Given the description of an element on the screen output the (x, y) to click on. 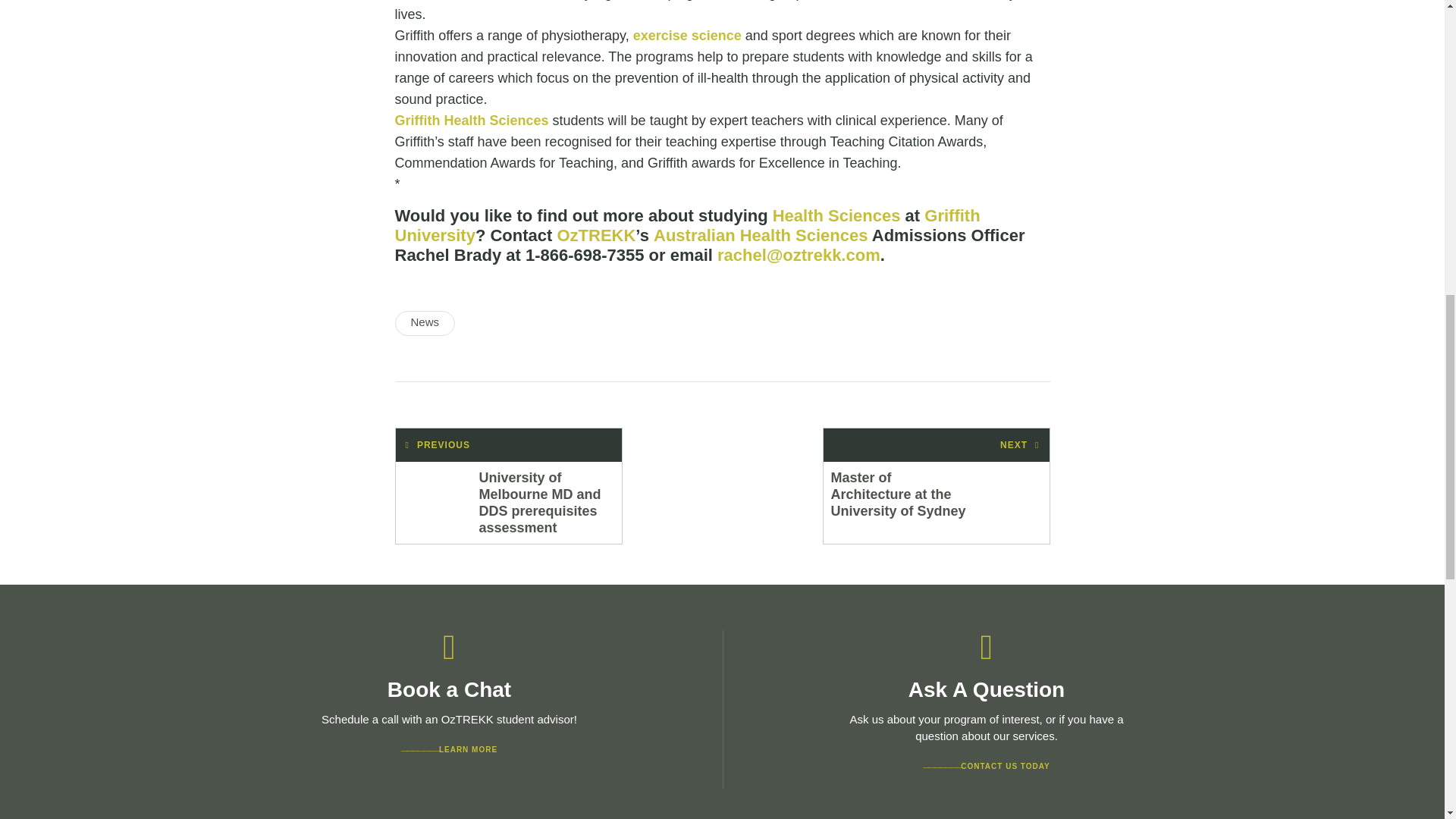
OzTREKK - Your Canadian Connection to Study in Australia (595, 235)
Email Rachel at OzTREKK (798, 254)
Australian Health Sciences programs (760, 235)
Study exercise science at Griffith University (687, 35)
Find out more about Griffith University (686, 225)
Griffith Health Sciences (837, 215)
Griffith Health Sciences (471, 120)
